Given the description of an element on the screen output the (x, y) to click on. 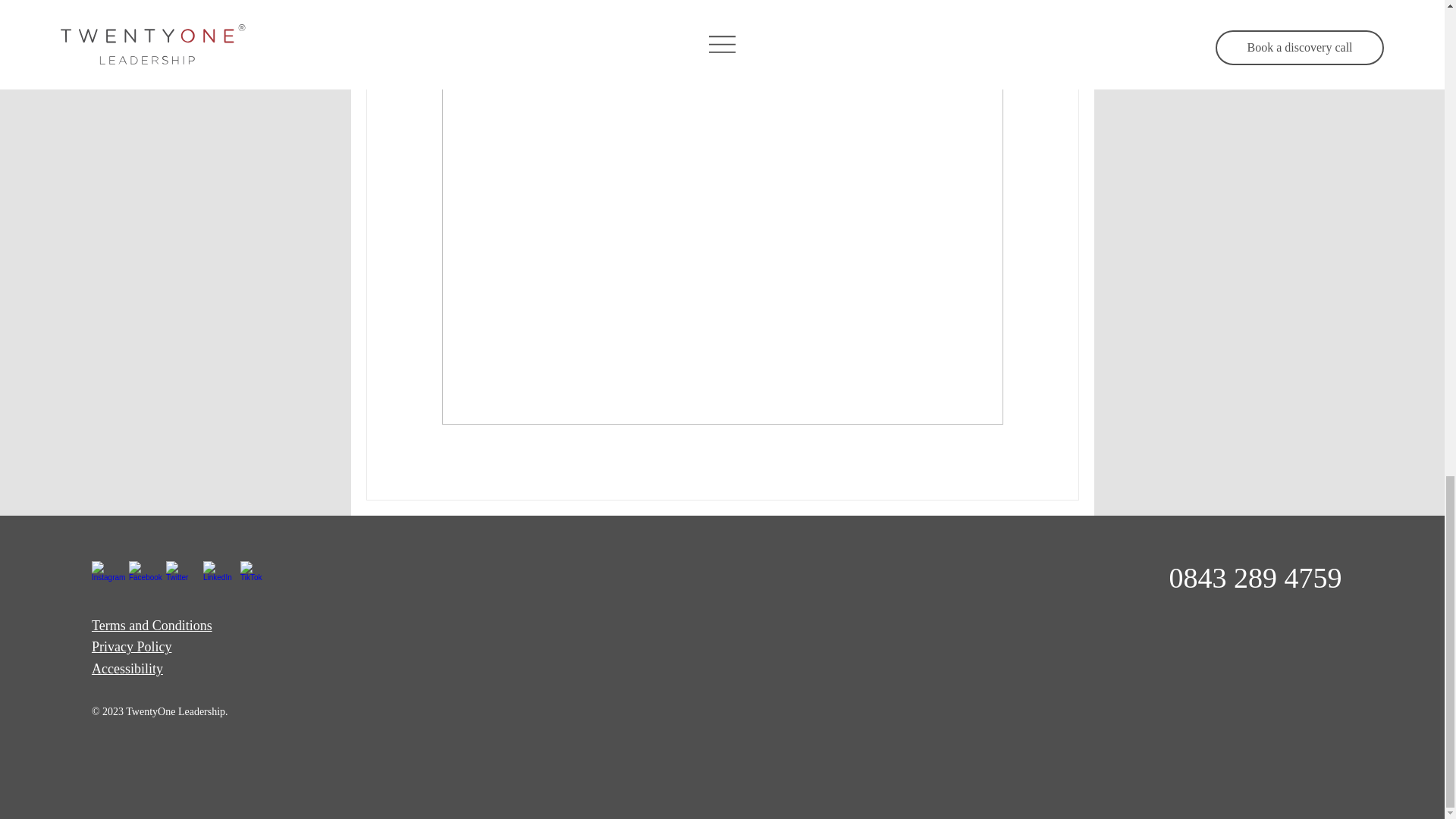
Terms and Conditions (151, 625)
Privacy Policy (131, 646)
Accessibility (127, 668)
